Given the description of an element on the screen output the (x, y) to click on. 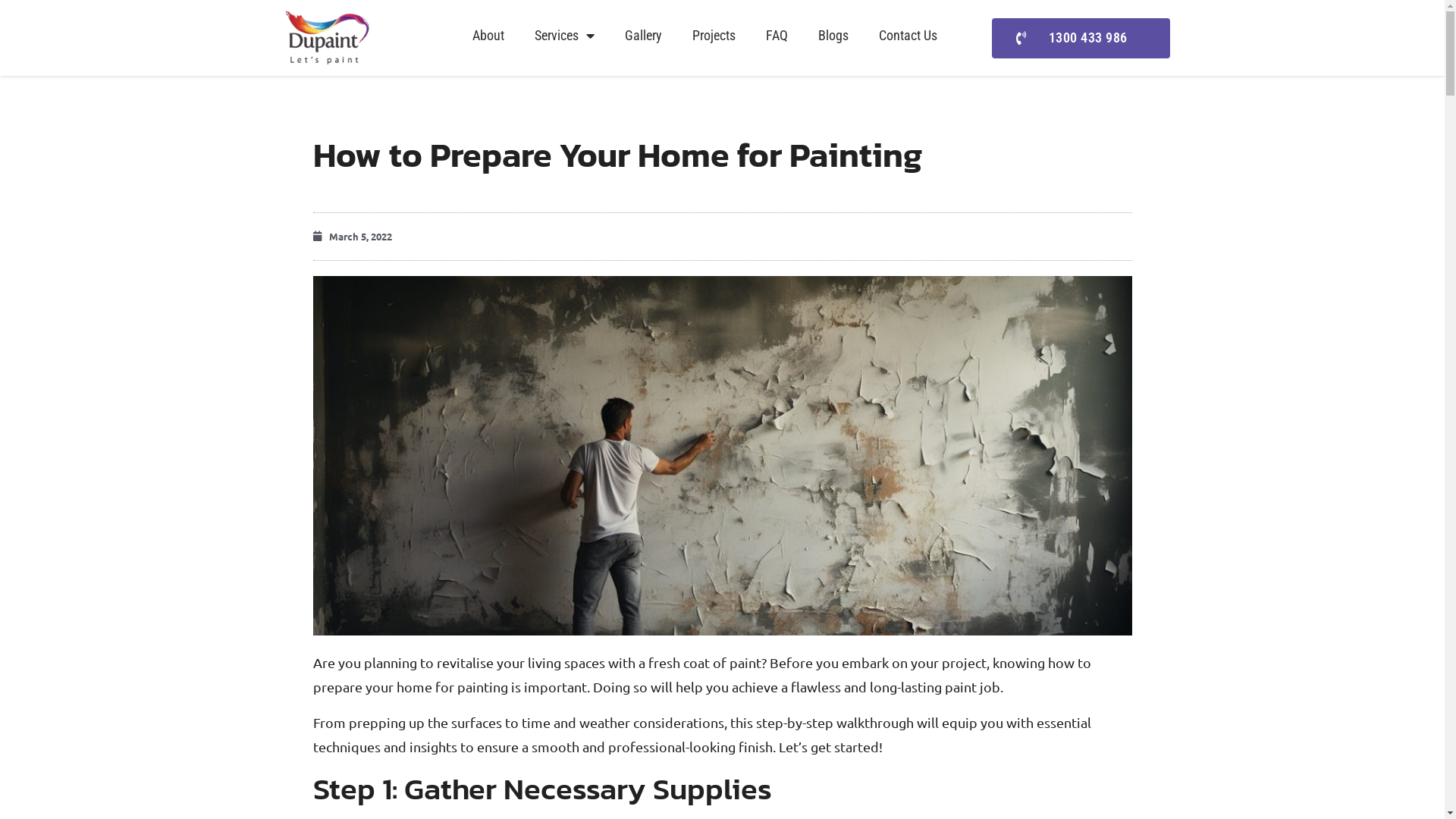
Blogs Element type: text (832, 35)
Gallery Element type: text (643, 35)
Projects Element type: text (712, 35)
Contact Us Element type: text (906, 35)
1300 433 986 Element type: text (1080, 38)
March 5, 2022 Element type: text (351, 236)
About Element type: text (487, 35)
How-to-Prepare-Your-Home-for-Painting Element type: hover (721, 455)
Services Element type: text (563, 35)
FAQ Element type: text (776, 35)
